Given the description of an element on the screen output the (x, y) to click on. 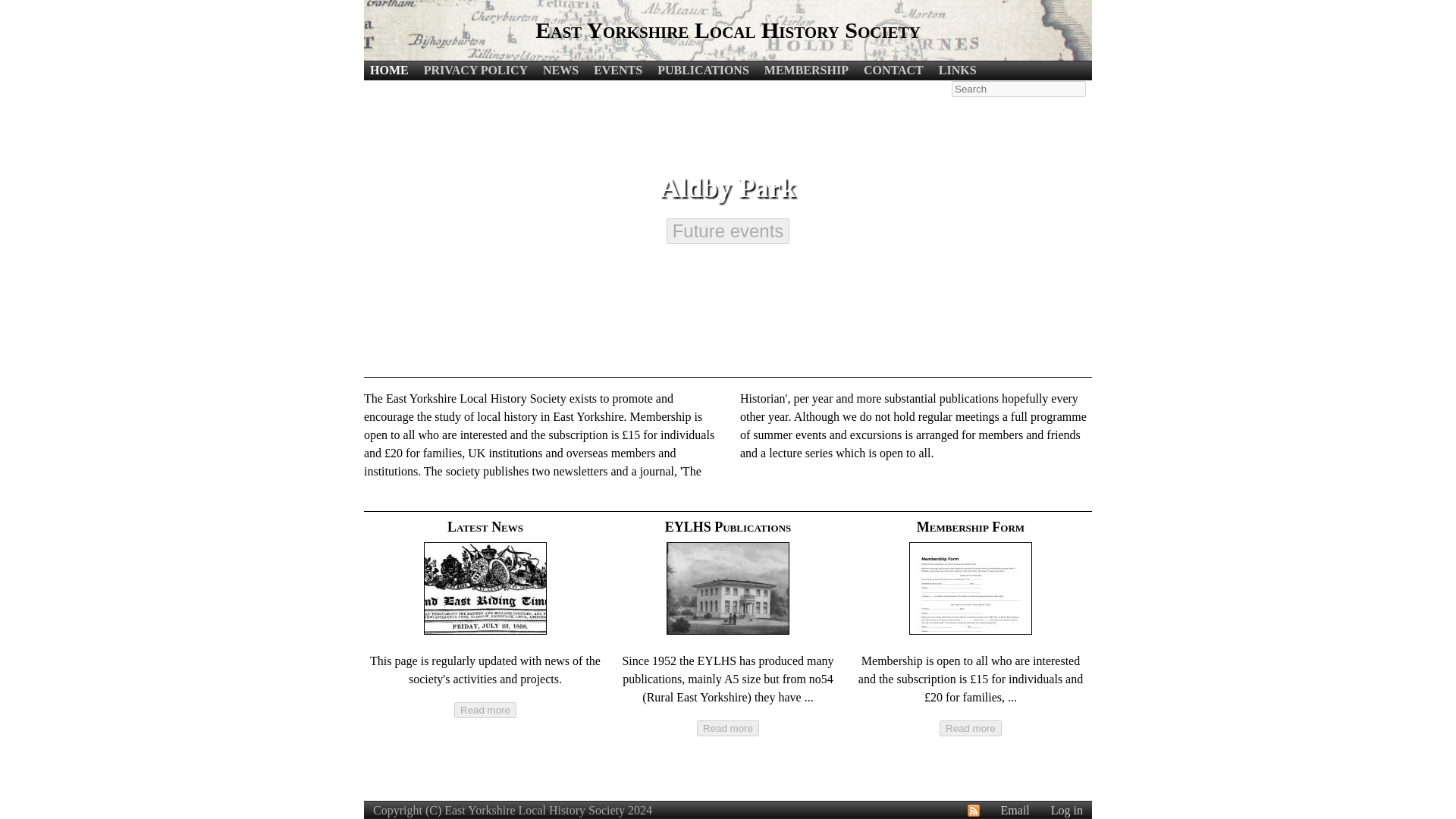
CONTACT (893, 69)
PRIVACY POLICY (475, 69)
PUBLICATIONS (703, 69)
HOME (389, 69)
EYLHS Publications (728, 526)
Read more (970, 728)
LINKS (957, 69)
Membership Form (971, 526)
Read more (727, 728)
Latest News (484, 526)
EVENTS (618, 69)
Read more (727, 728)
Future events (728, 231)
Read more (970, 728)
Read more (485, 709)
